Given the description of an element on the screen output the (x, y) to click on. 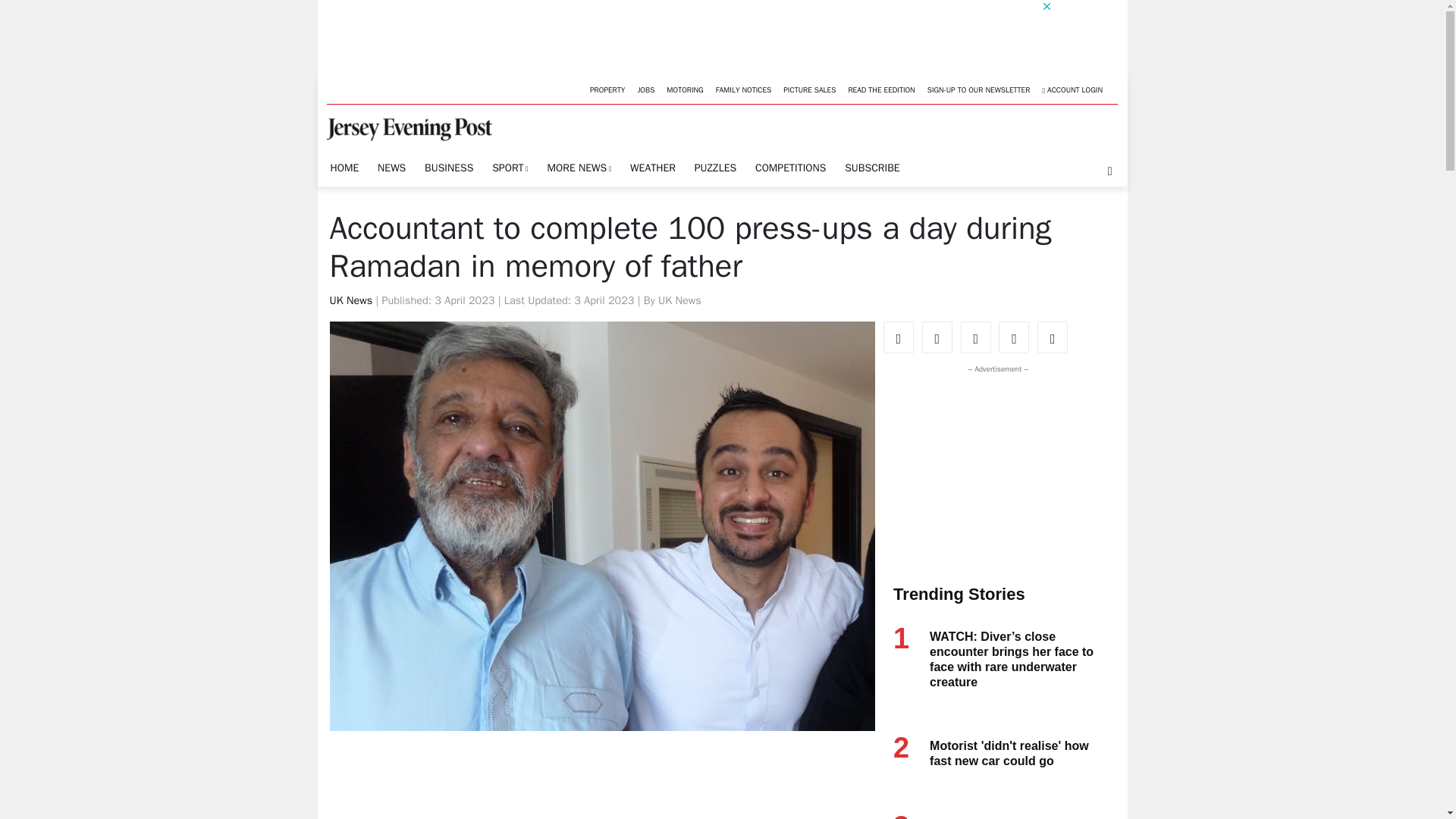
SIGN-UP TO OUR NEWSLETTER (978, 90)
READ THE EEDITION (880, 90)
3rd party ad content (604, 788)
HOME (344, 168)
MORE NEWS (579, 168)
PICTURE SALES (809, 90)
SPORT (509, 168)
3rd party ad content (994, 471)
3rd party ad content (684, 33)
JOBS (645, 90)
